Given the description of an element on the screen output the (x, y) to click on. 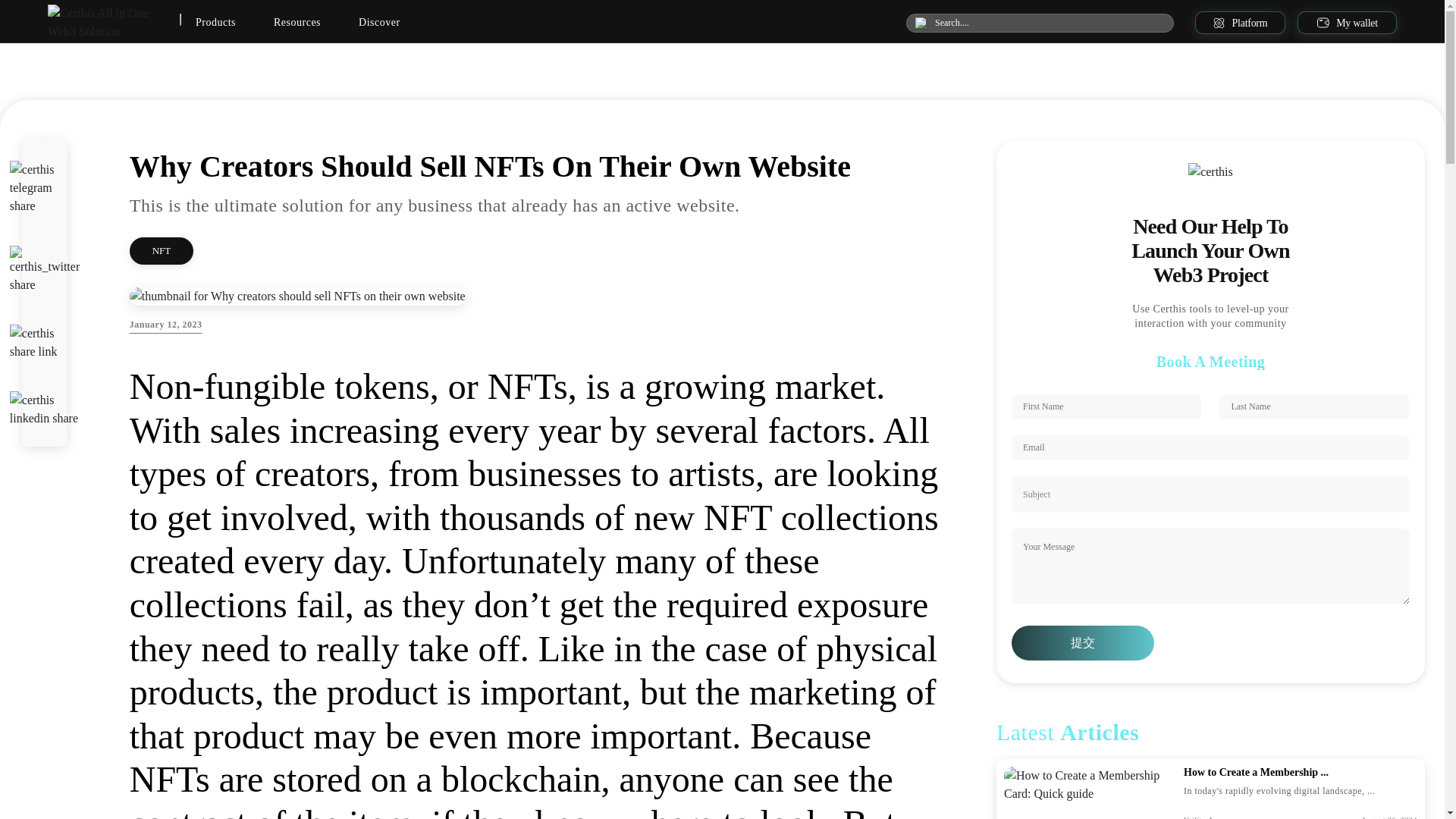
Platform (1240, 22)
Discover (379, 22)
Platform (1229, 22)
My wallet (1346, 22)
